Given the description of an element on the screen output the (x, y) to click on. 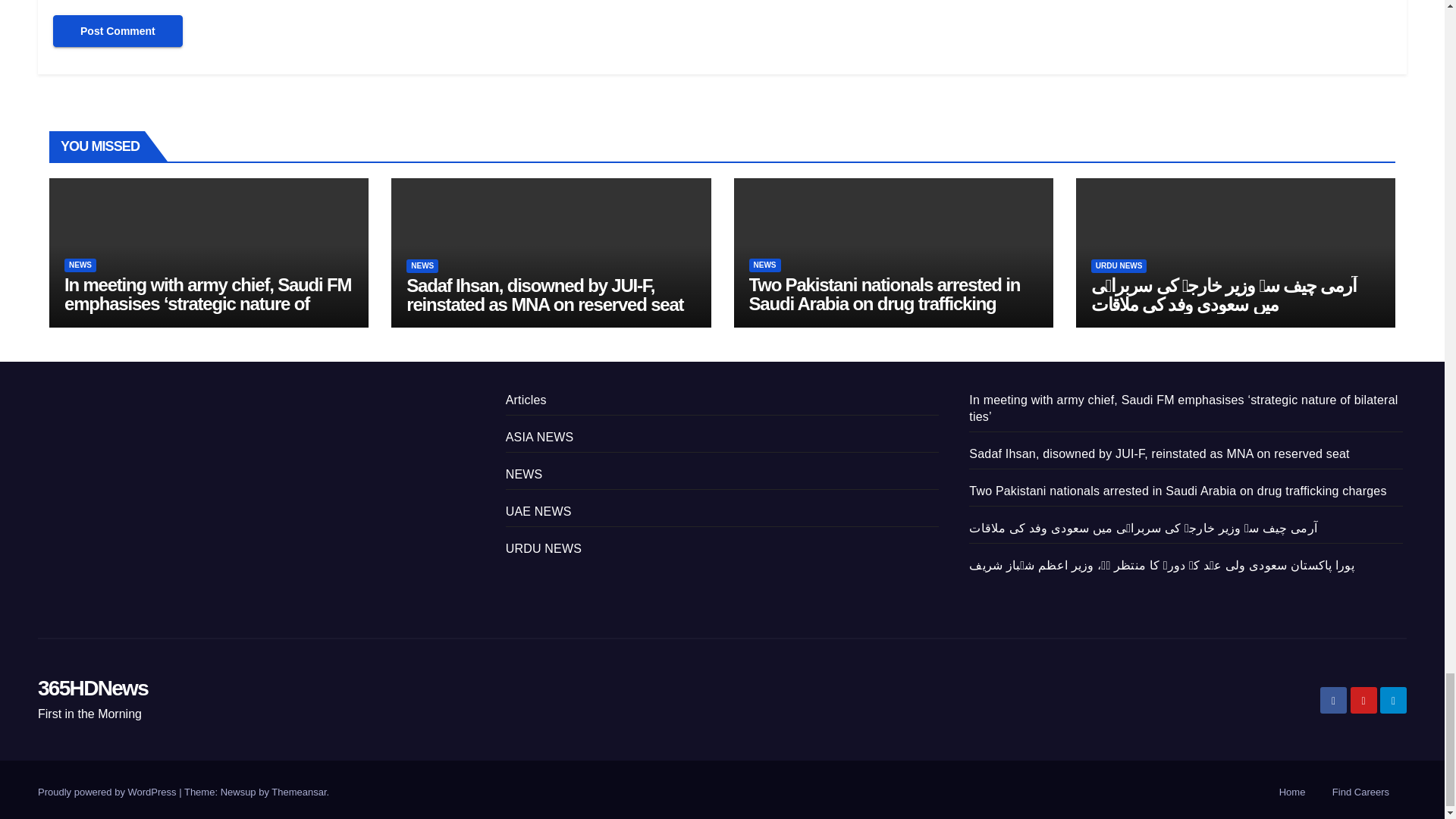
Post Comment (117, 30)
NEWS (422, 265)
NEWS (764, 264)
NEWS (524, 473)
Post Comment (117, 30)
URDU NEWS (542, 548)
URDU NEWS (1118, 265)
ASIA NEWS (539, 436)
Articles (526, 399)
UAE NEWS (538, 511)
Home (1291, 792)
